Given the description of an element on the screen output the (x, y) to click on. 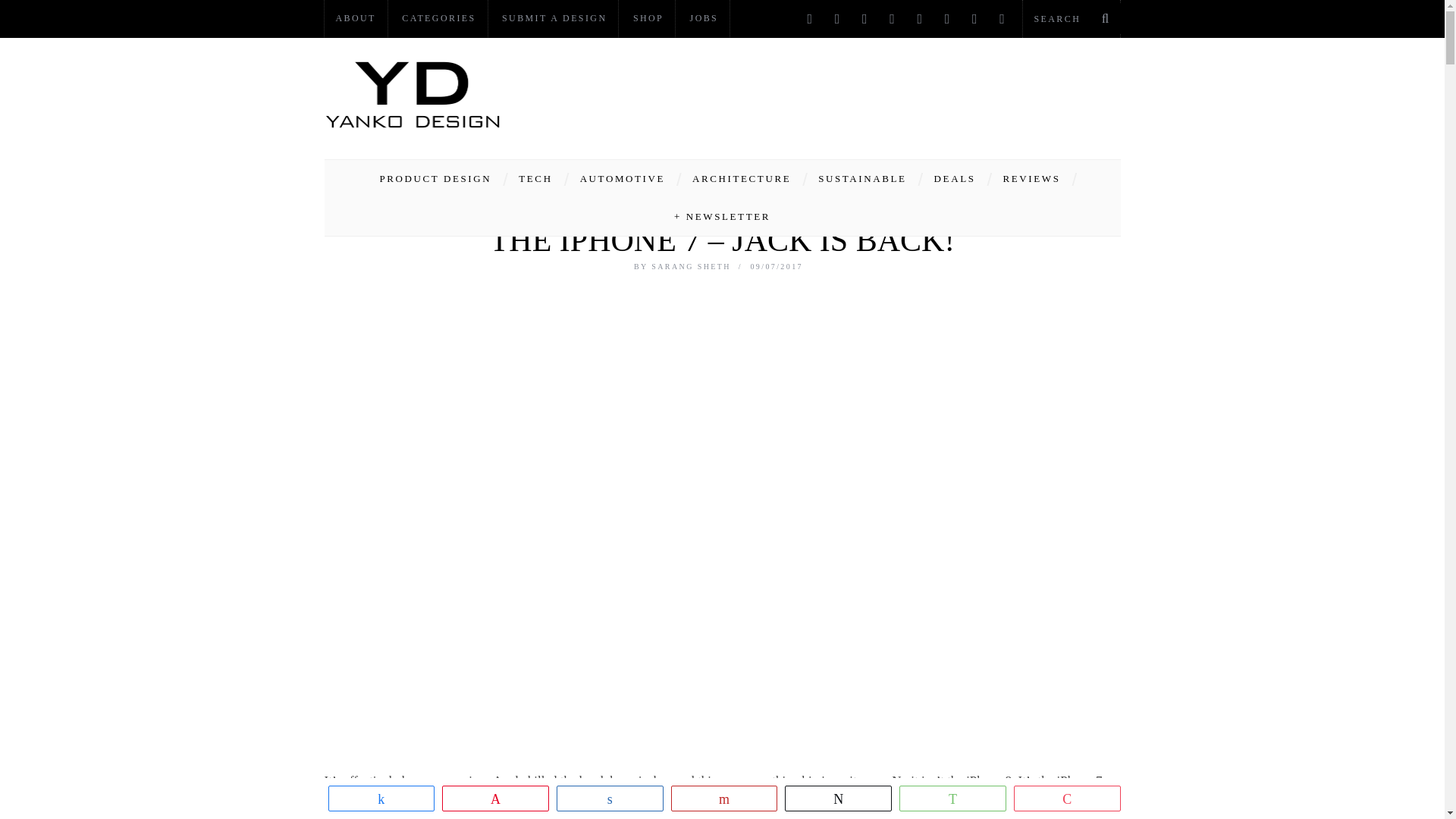
Advertisement (845, 94)
Search (1071, 18)
